Given the description of an element on the screen output the (x, y) to click on. 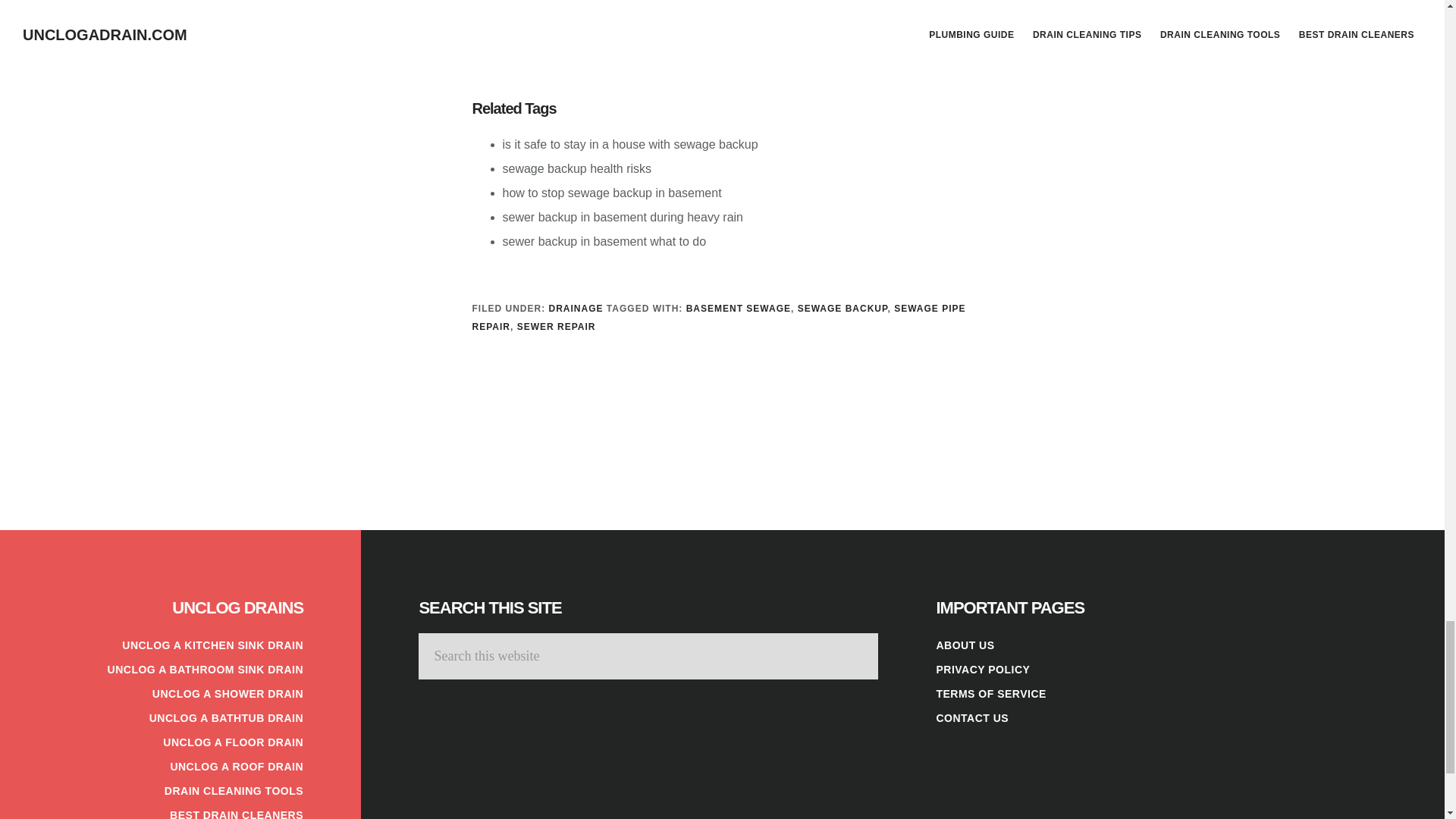
SEWER REPAIR (555, 326)
UNCLOG A ROOF DRAIN (236, 766)
SEWAGE BACKUP (842, 308)
UNCLOG A BATHTUB DRAIN (225, 717)
BASEMENT SEWAGE (737, 308)
DRAINAGE (576, 308)
UNCLOG A FLOOR DRAIN (232, 742)
UNCLOG A KITCHEN SINK DRAIN (212, 645)
UNCLOG A SHOWER DRAIN (227, 693)
SEWAGE PIPE REPAIR (718, 317)
UNCLOG A BATHROOM SINK DRAIN (204, 669)
